Given the description of an element on the screen output the (x, y) to click on. 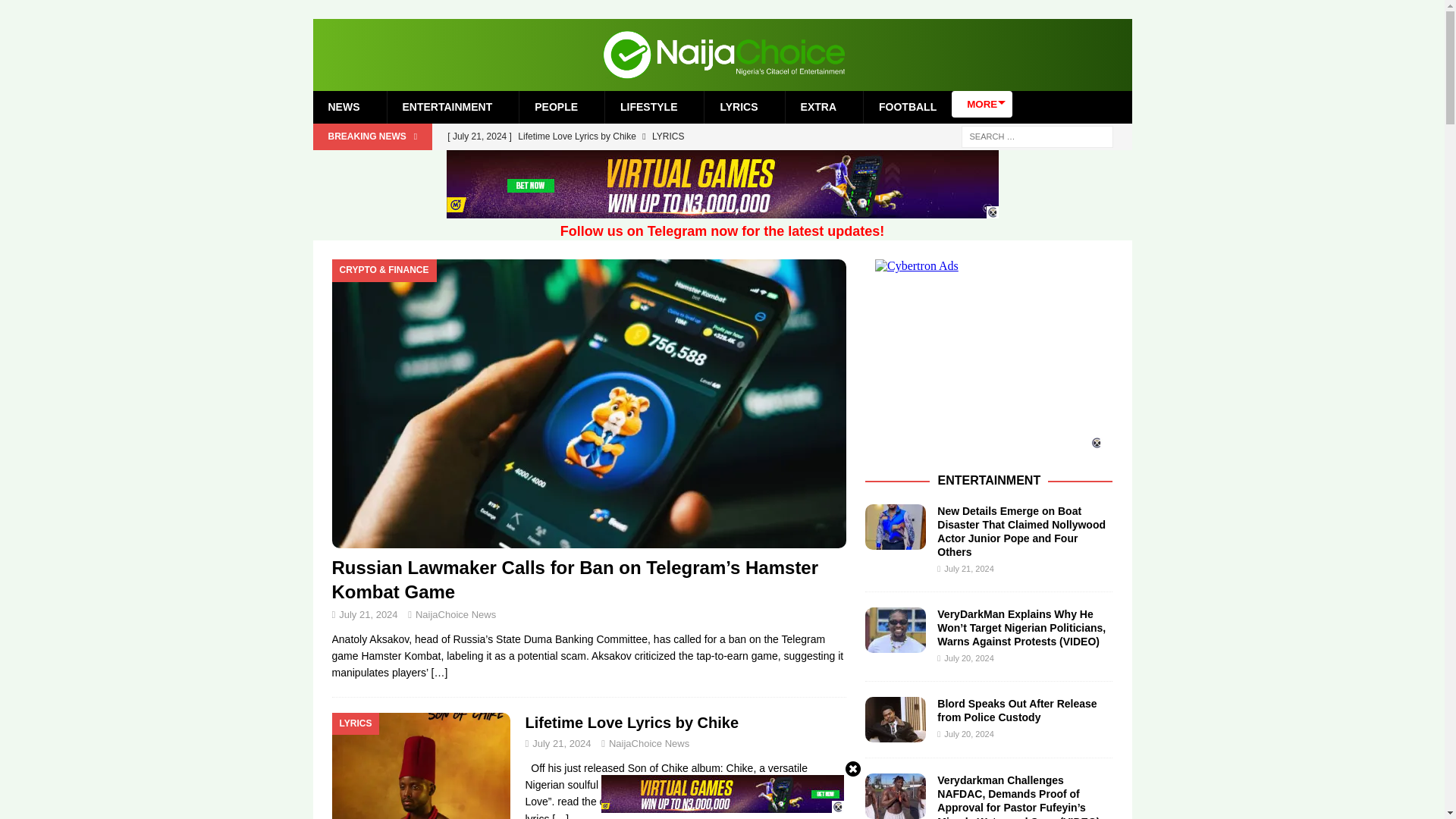
July 21, 2024 (368, 614)
Unto You Lyrics by Chike Feat. Ladipoe (640, 162)
LIFESTYLE (648, 106)
PEOPLE (555, 106)
LYRICS (738, 106)
Lifetime Love Lyrics by Chike (631, 722)
Lifetime Love Lyrics by Chike (640, 136)
MORE (981, 103)
NaijaChoice News (648, 743)
ENTERTAINMENT (447, 106)
EXTRA (817, 106)
Follow us on Telegram now for the latest updates! (722, 231)
FOOTBALL (907, 106)
July 21, 2024 (561, 743)
Lifetime Love Lyrics by Chike 2 (421, 765)
